Given the description of an element on the screen output the (x, y) to click on. 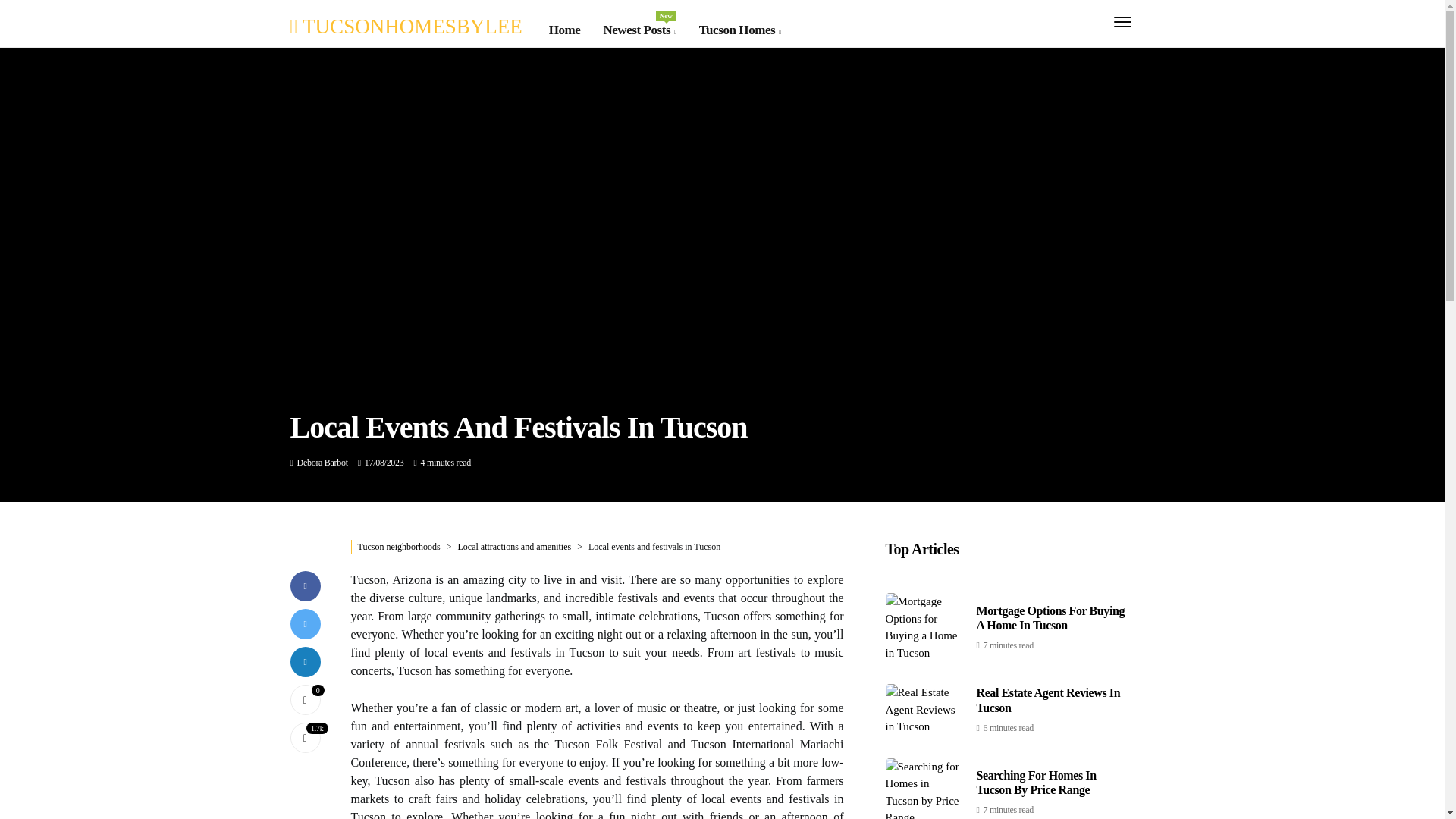
Posts by Debora Barbot (322, 462)
TUCSONHOMESBYLEE (405, 26)
Like (638, 30)
Tucson Homes (304, 698)
